Given the description of an element on the screen output the (x, y) to click on. 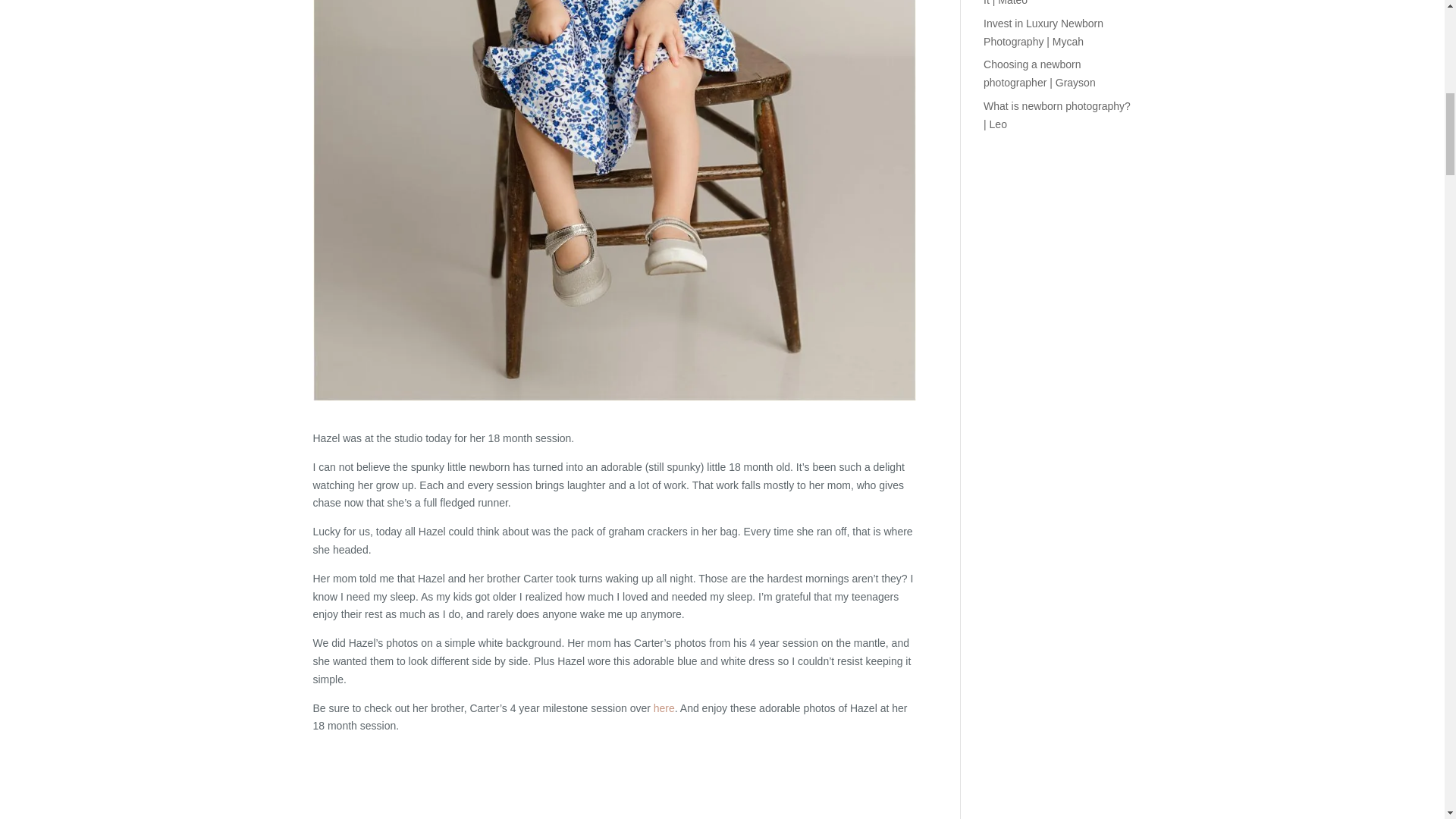
here (664, 707)
